Given the description of an element on the screen output the (x, y) to click on. 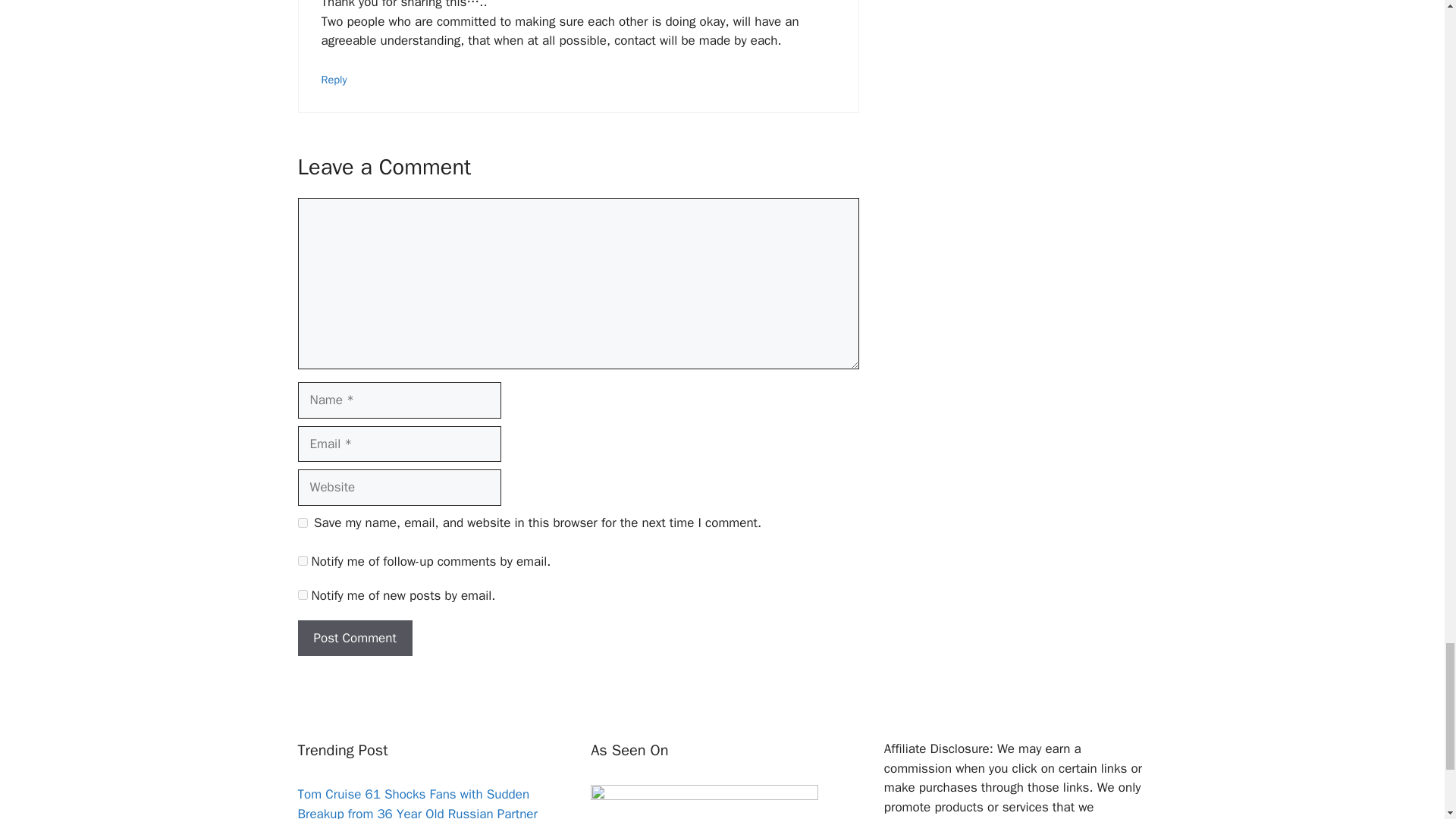
Post Comment (354, 637)
yes (302, 522)
subscribe (302, 560)
subscribe (302, 594)
